Given the description of an element on the screen output the (x, y) to click on. 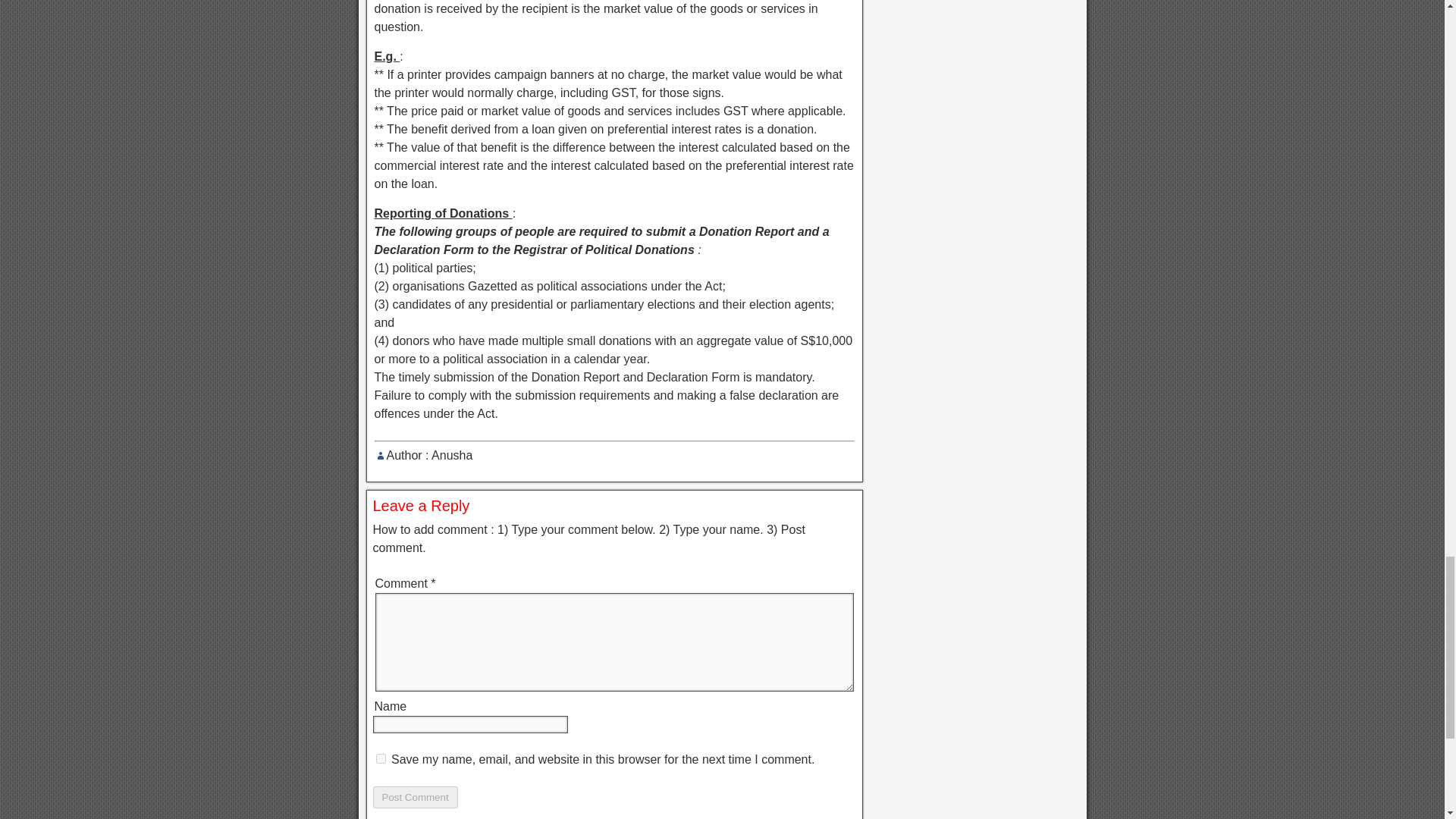
Post Comment (415, 797)
yes (380, 758)
Post Comment (415, 797)
